Given the description of an element on the screen output the (x, y) to click on. 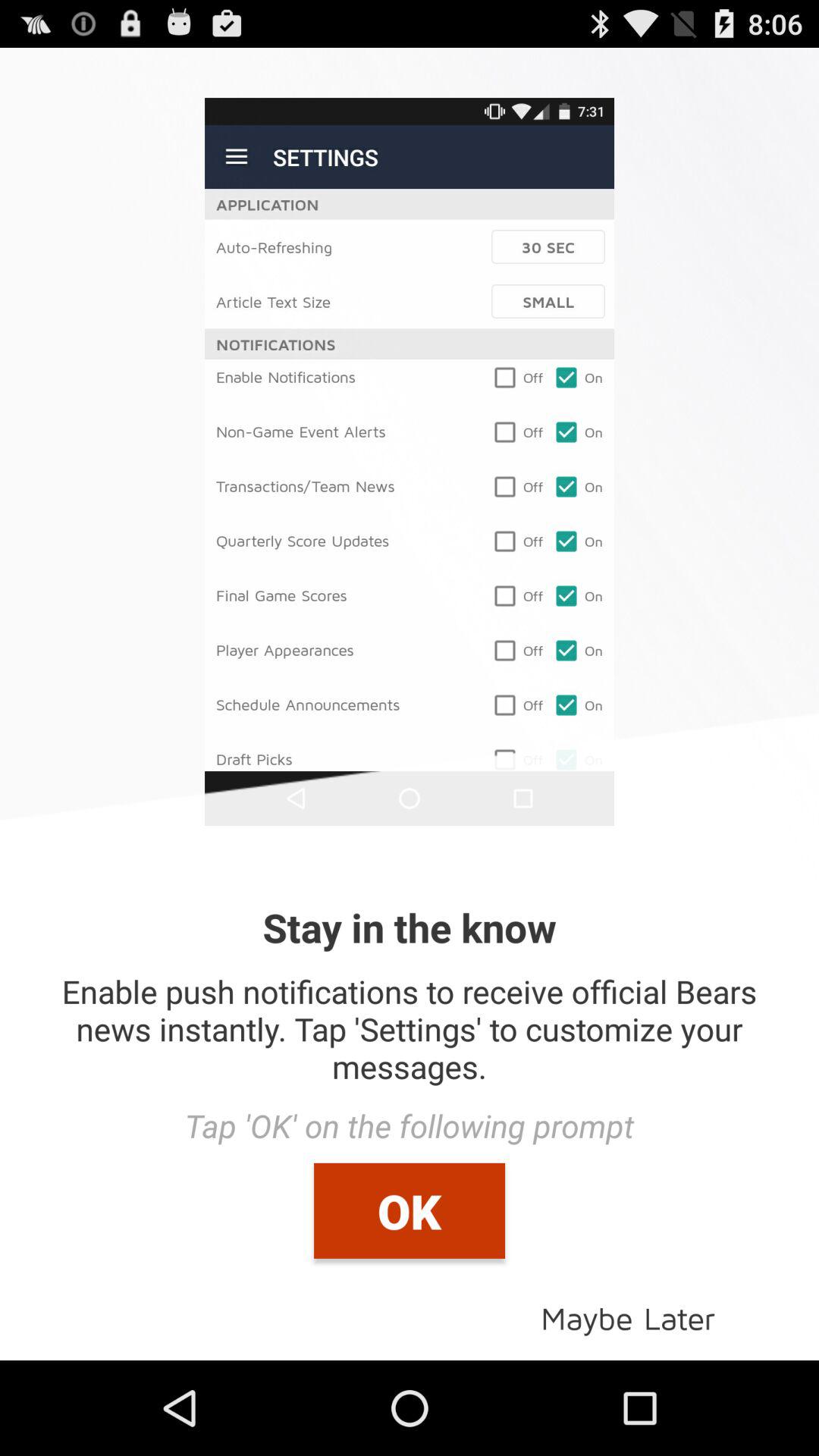
open icon below ok item (627, 1317)
